Given the description of an element on the screen output the (x, y) to click on. 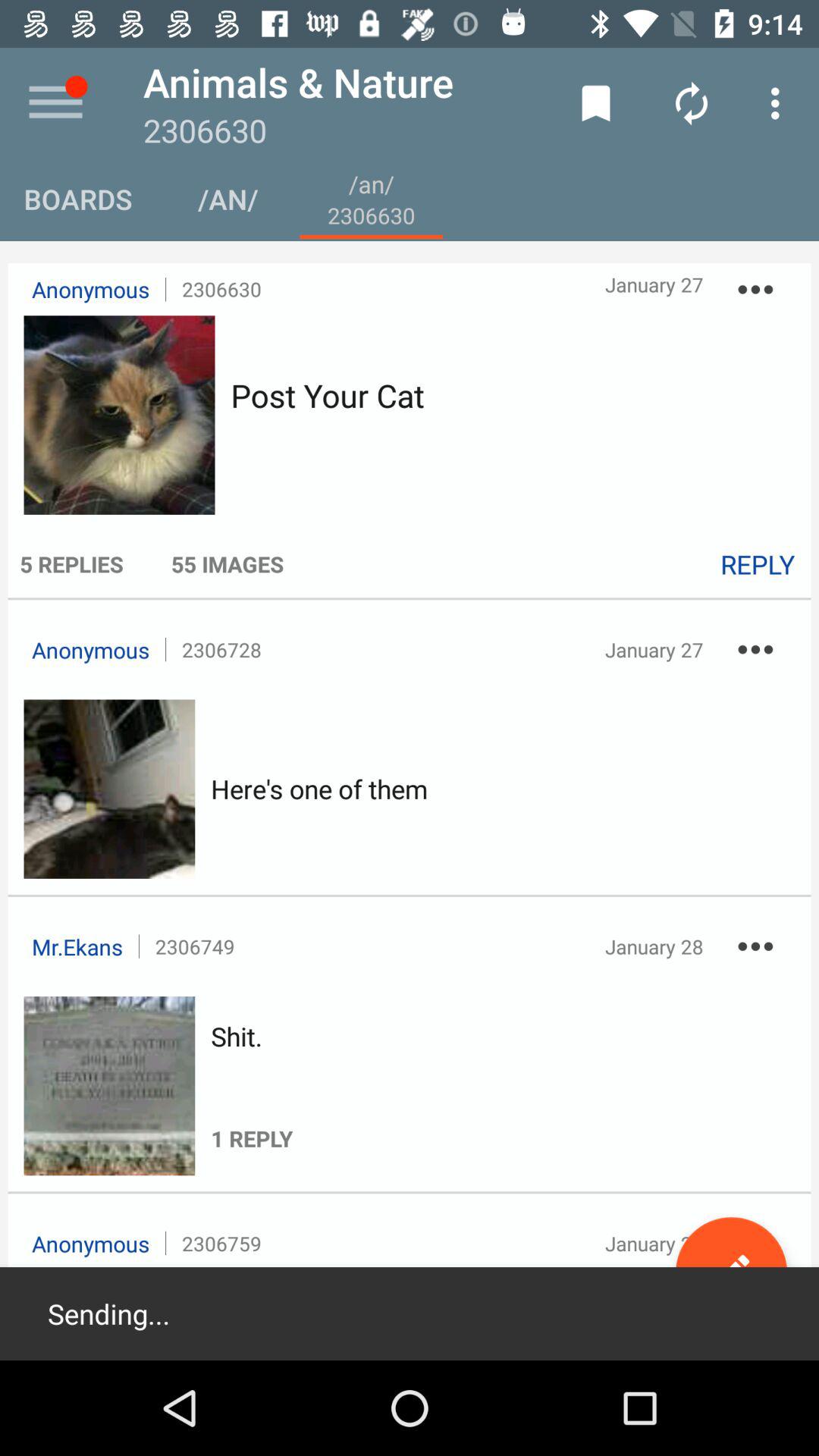
choose the icon next to 2306759 icon (731, 1272)
